Given the description of an element on the screen output the (x, y) to click on. 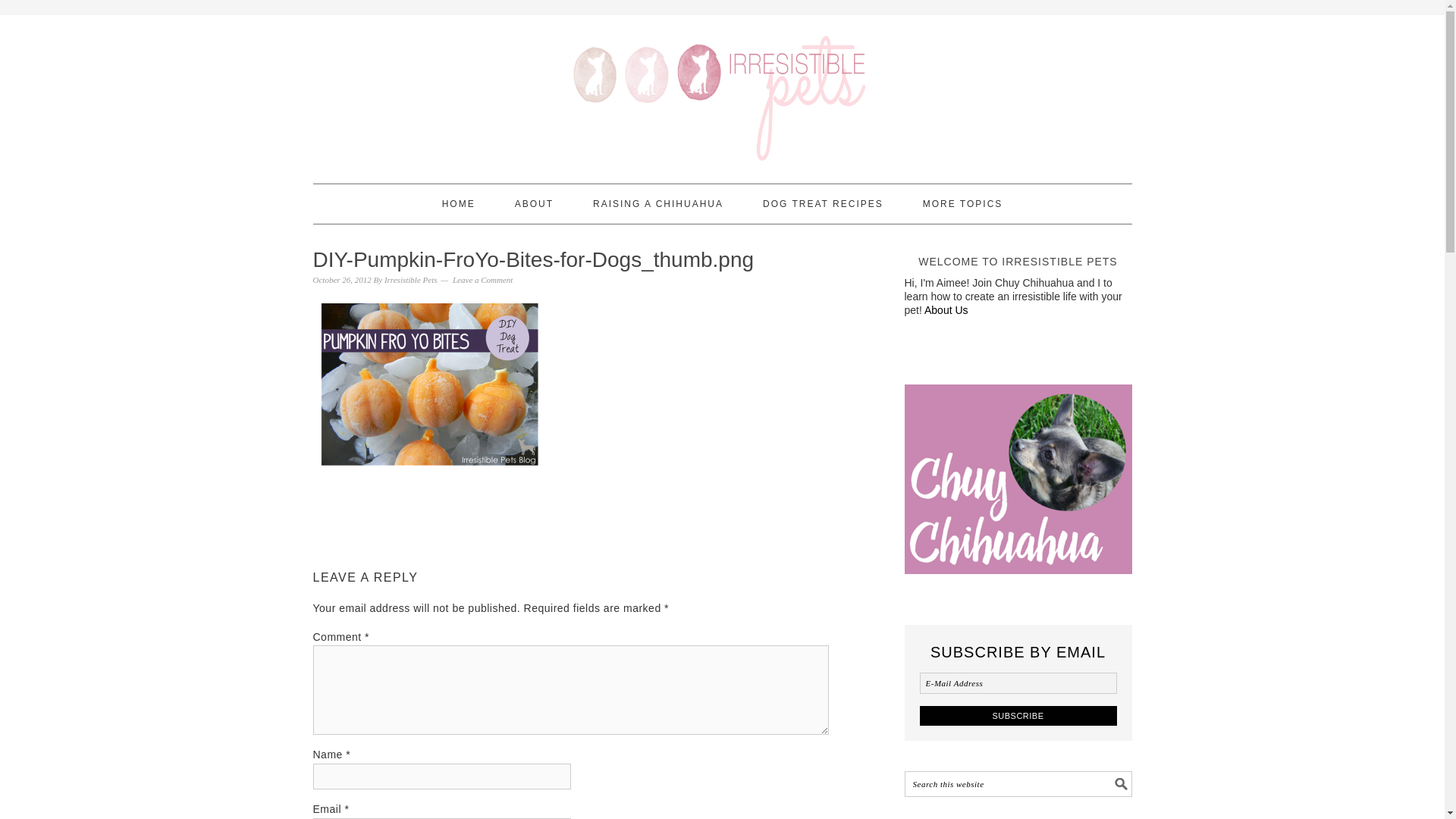
IRRESISTIBLE PETS (722, 92)
HOME (459, 203)
ABOUT (534, 203)
Leave a Comment (482, 279)
About Us (946, 309)
Subscribe (1017, 714)
Irresistible Pets (411, 279)
DOG TREAT RECIPES (823, 203)
Subscribe (1017, 714)
RAISING A CHIHUAHUA (657, 203)
MORE TOPICS (963, 203)
